Given the description of an element on the screen output the (x, y) to click on. 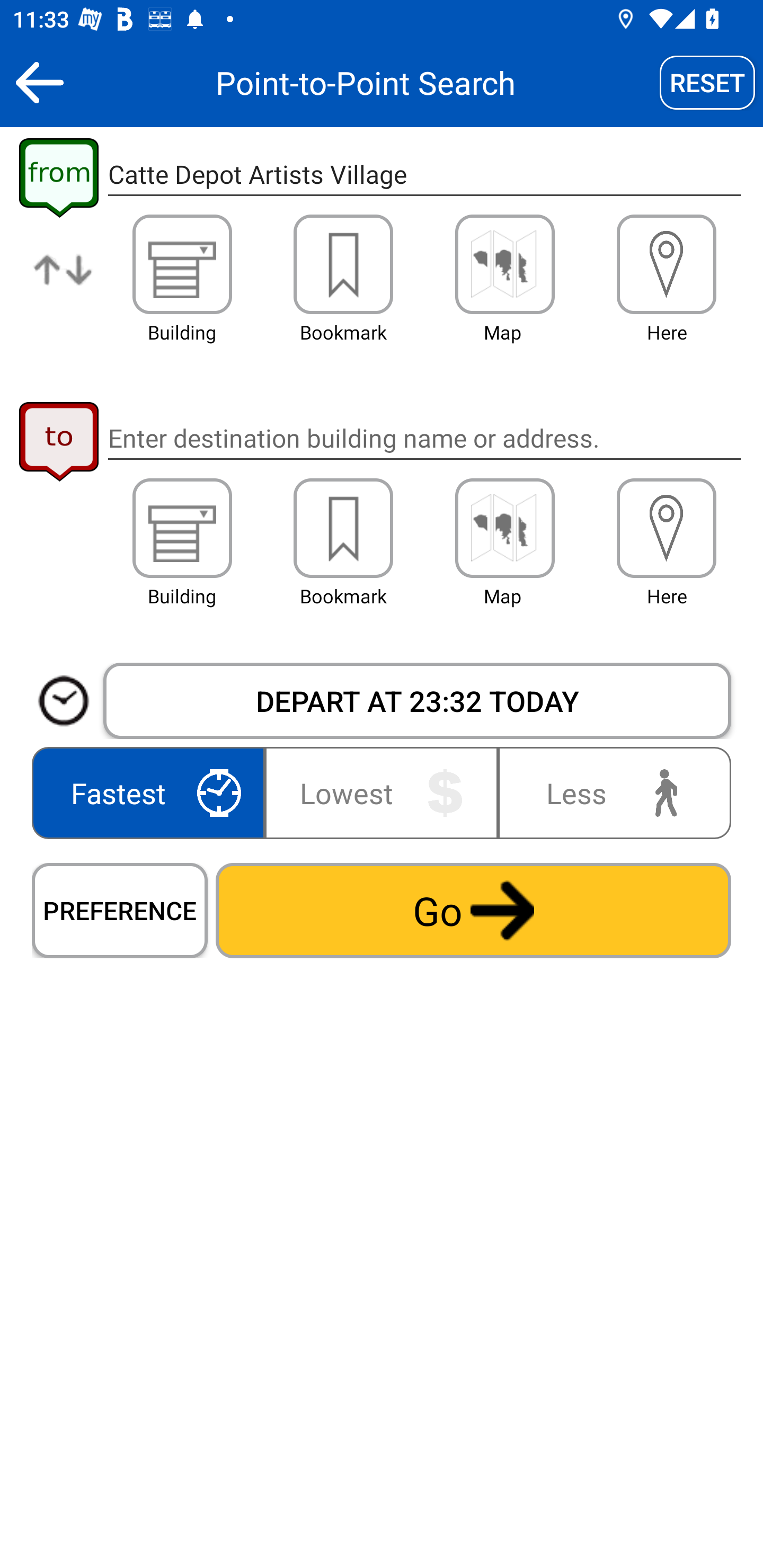
Back (39, 82)
RESET Reset (707, 81)
Catte Depot Artists Village (423, 174)
Building (181, 263)
Bookmarks (342, 263)
Select location on map (504, 263)
Here (666, 263)
Swap origin and destination (63, 284)
Enter destination building name or address. (423, 437)
Building (181, 528)
Bookmarks (342, 528)
Select location on map (504, 528)
Here (666, 528)
Lowest (381, 792)
Fastest selected (151, 792)
Less (610, 792)
PREFERENCE Preference (119, 910)
Go (472, 910)
